Given the description of an element on the screen output the (x, y) to click on. 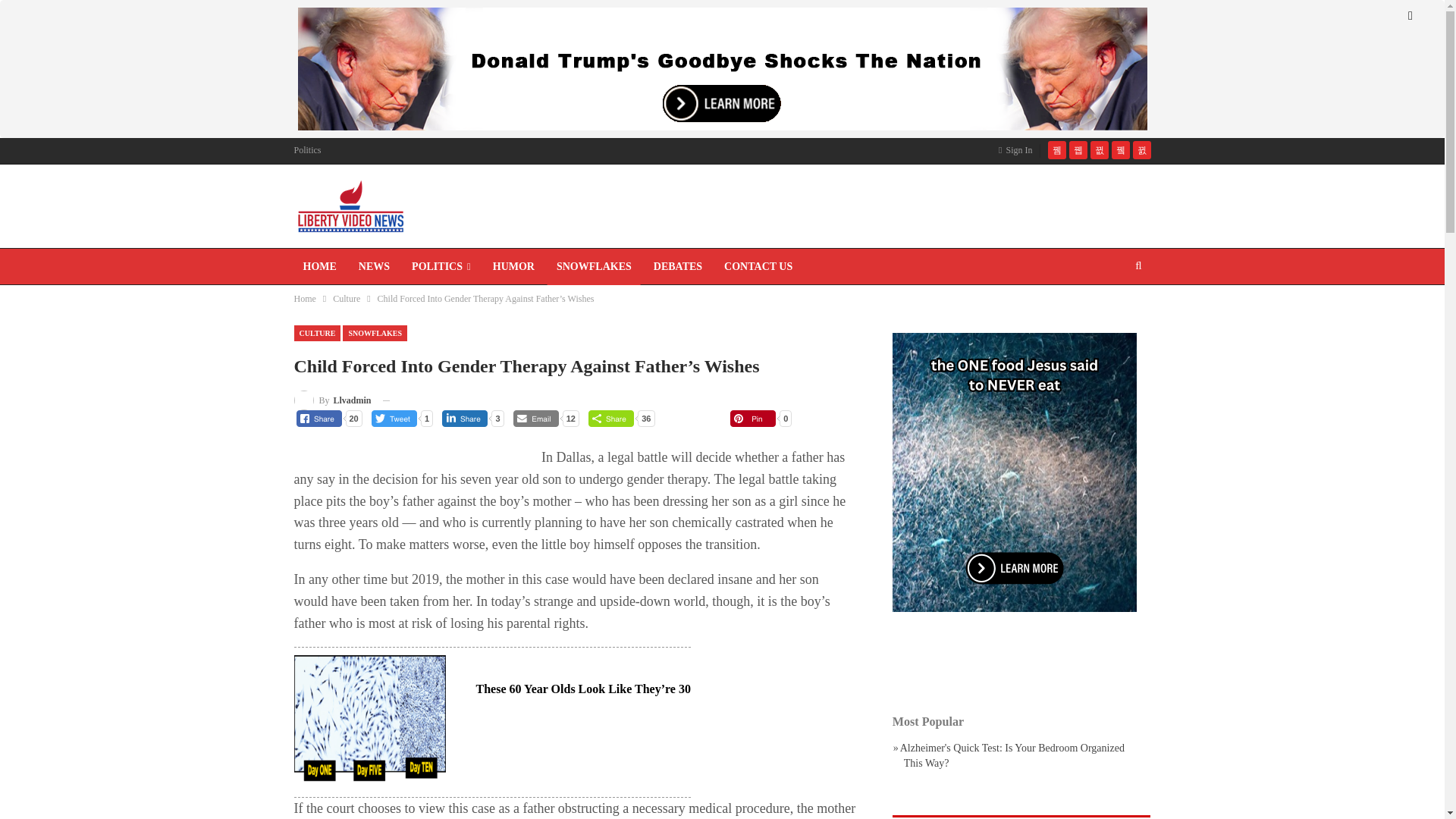
POLITICS (441, 266)
Browse Author Articles (332, 399)
HOME (320, 266)
Sign In (1018, 149)
Politics (307, 149)
NEWS (373, 266)
